Given the description of an element on the screen output the (x, y) to click on. 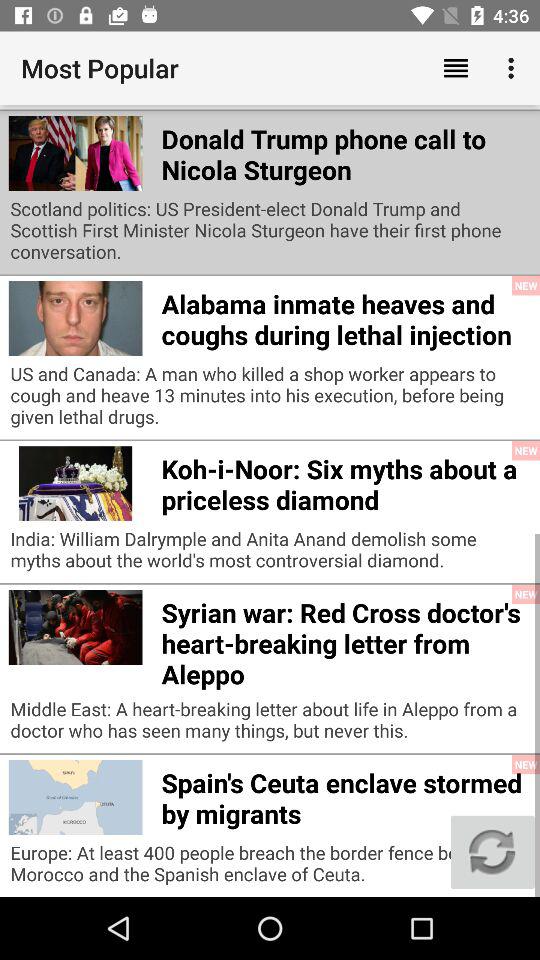
flip until alabama inmate heaves icon (345, 316)
